Given the description of an element on the screen output the (x, y) to click on. 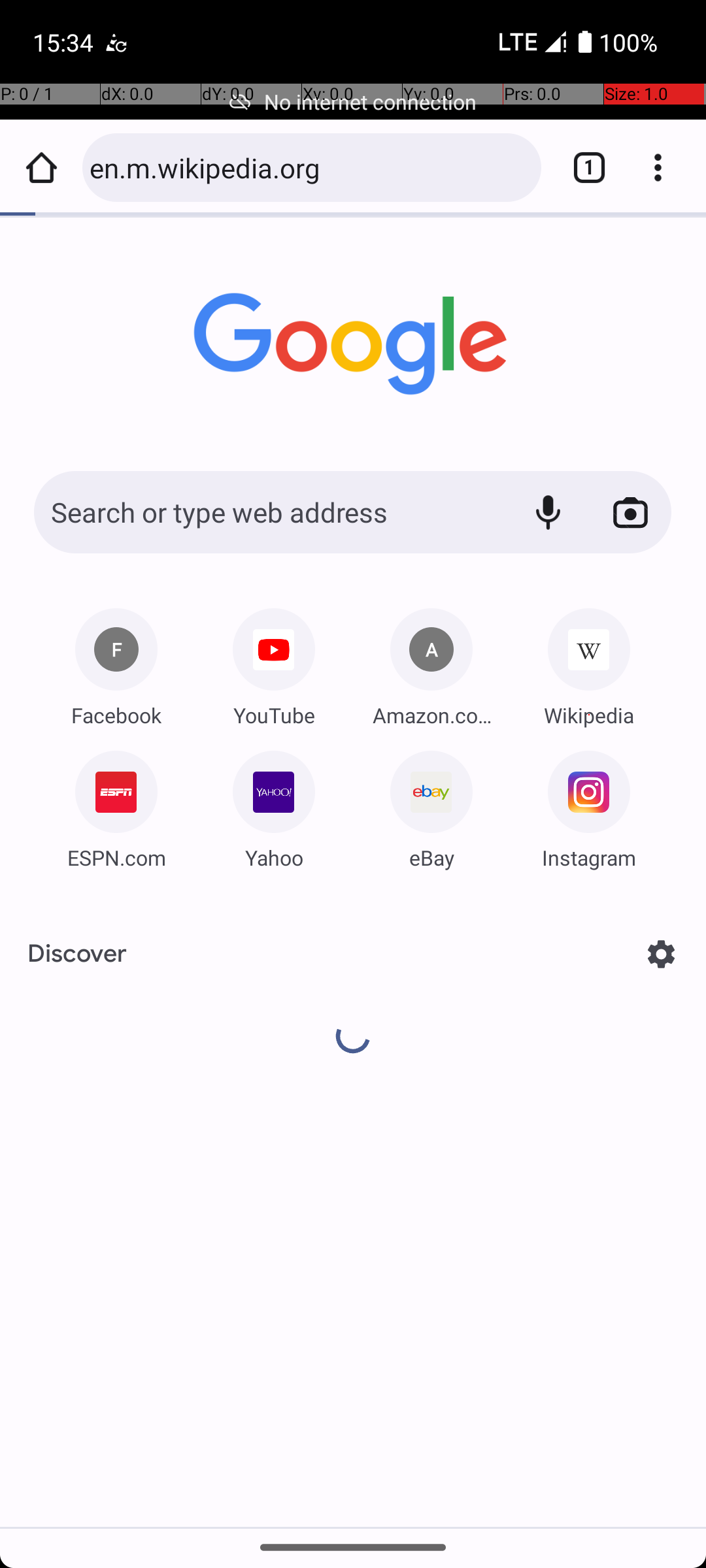
en.m.wikipedia.org Element type: android.widget.EditText (308, 167)
Search with your camera using Google Lens Element type: android.widget.ImageView (629, 512)
Navigate: Facebook: m.facebook.com Element type: android.widget.FrameLayout (115, 662)
Navigate: YouTube: m.youtube.com Element type: android.widget.FrameLayout (273, 662)
Navigate: Amazon.com: www.amazon.com Element type: android.widget.FrameLayout (431, 662)
Navigate: Wikipedia: en.m.wikipedia.org Element type: android.widget.FrameLayout (588, 662)
Navigate: ESPN.com: www.espn.com Element type: android.widget.FrameLayout (115, 804)
Navigate: Yahoo: www.yahoo.com Element type: android.widget.FrameLayout (273, 804)
Navigate: eBay: m.ebay.com Element type: android.widget.FrameLayout (431, 804)
Navigate: Instagram: www.instagram.com Element type: android.widget.FrameLayout (588, 804)
Options for Discover Element type: android.widget.ImageButton (660, 953)
Amazon.com Element type: android.widget.TextView (430, 715)
ESPN.com Element type: android.widget.TextView (115, 857)
eBay Element type: android.widget.TextView (430, 857)
Instagram Element type: android.widget.TextView (588, 857)
